Given the description of an element on the screen output the (x, y) to click on. 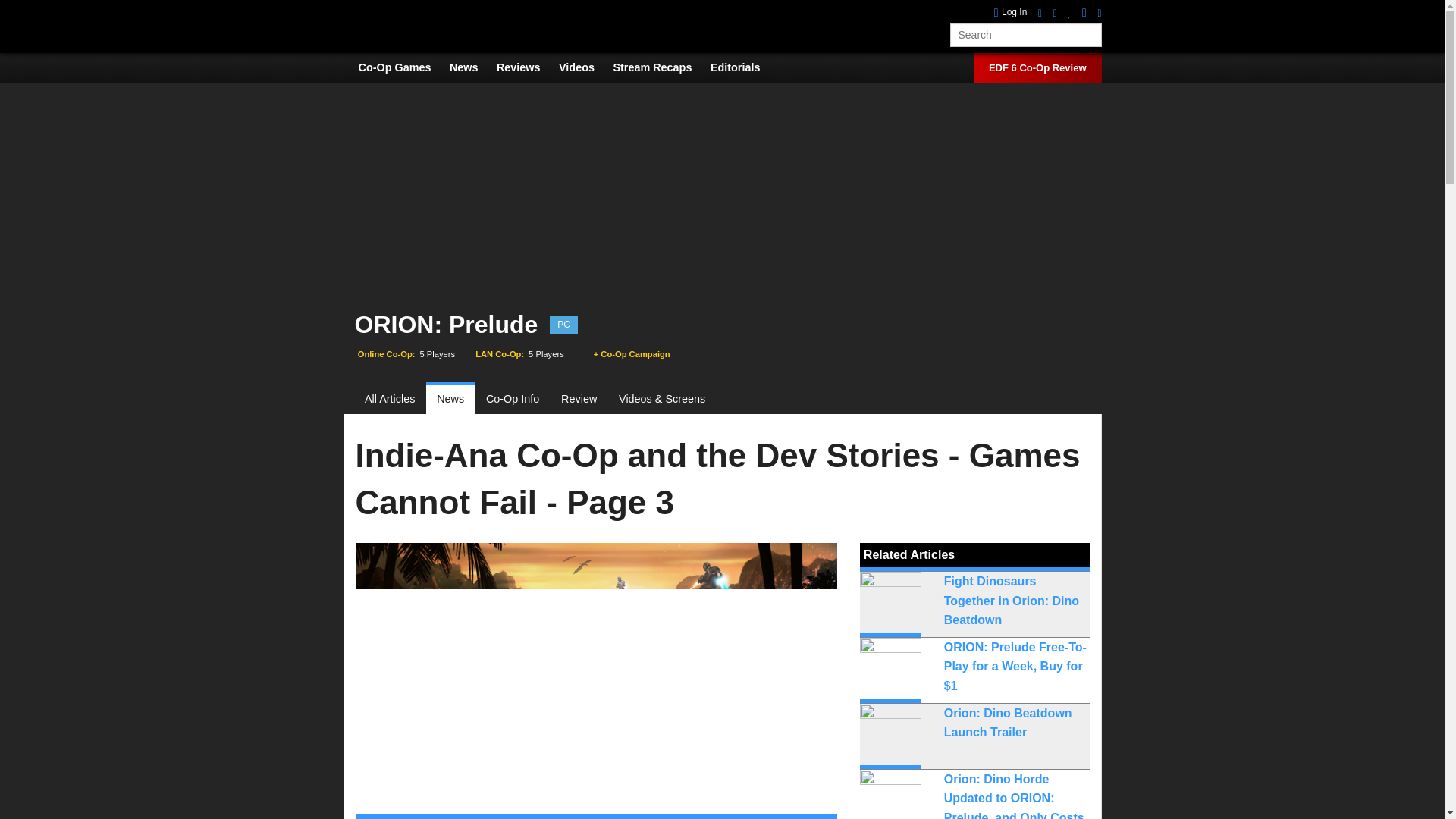
 Log In (1010, 11)
Reviews (526, 67)
News (451, 398)
PC (564, 324)
Weekly Video Streams and VODs from Co-Optimus (659, 67)
Co-Op Games (401, 67)
Stream Recaps (659, 67)
News (471, 67)
Review (579, 398)
Co-Op Info (513, 398)
